Given the description of an element on the screen output the (x, y) to click on. 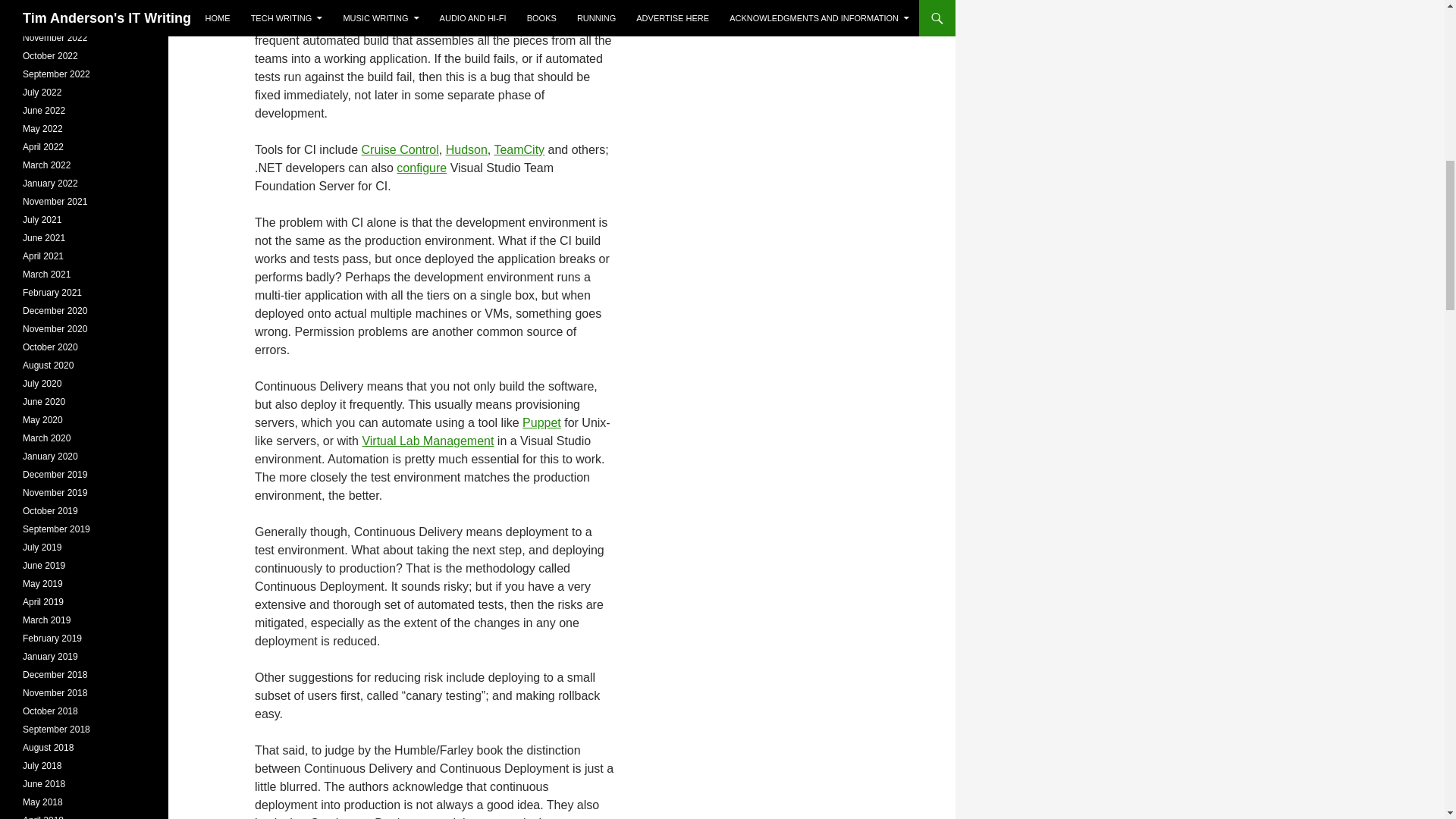
Virtual Lab Management (427, 440)
TeamCity (518, 149)
configure (421, 167)
Puppet (541, 422)
Cruise Control (400, 149)
Hudson (466, 149)
